Given the description of an element on the screen output the (x, y) to click on. 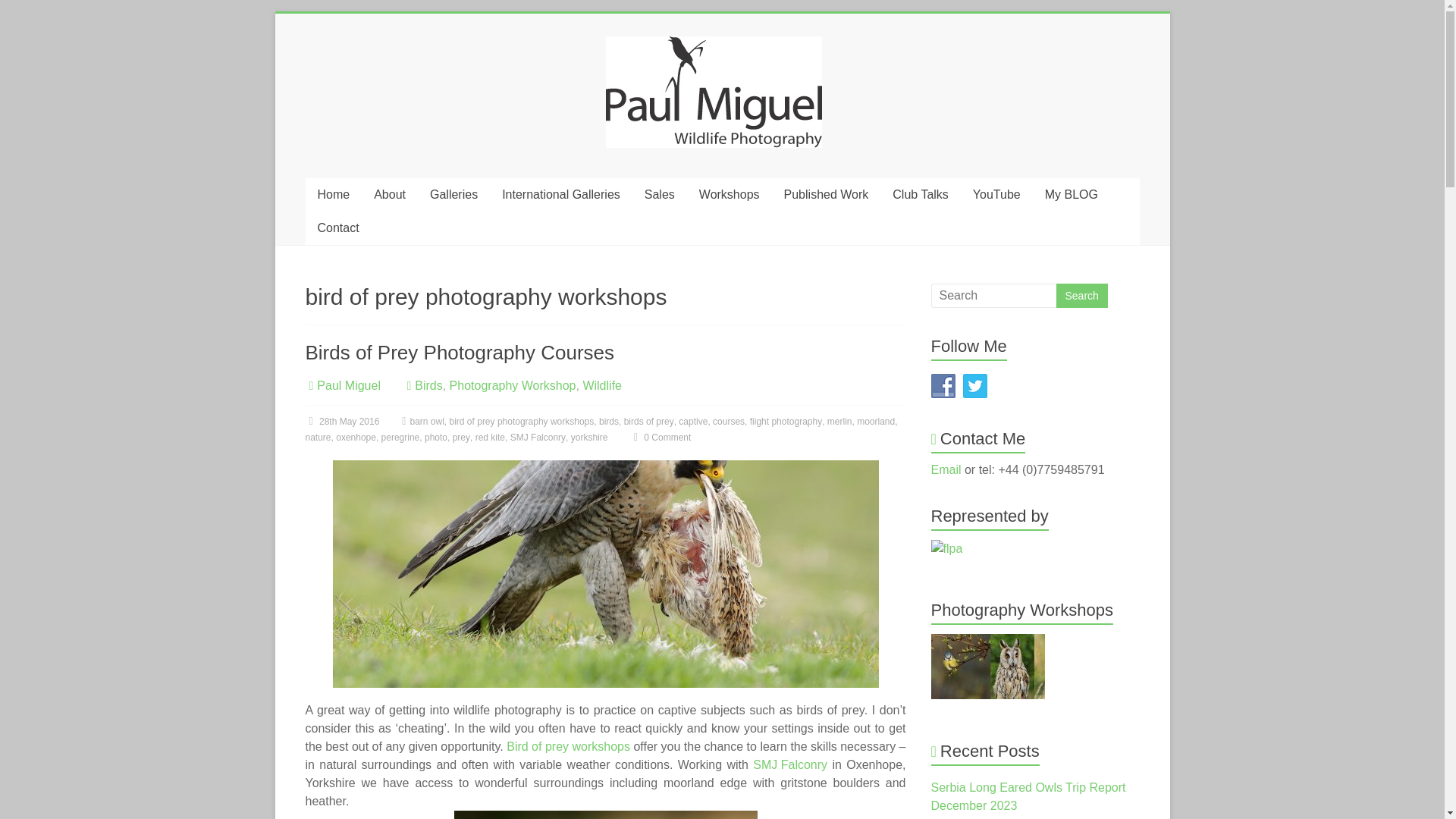
Follow Us on Twitter (974, 385)
Search (1080, 295)
moorland (876, 421)
Paul Miguel (348, 385)
Birds (428, 385)
Birds of Prey Photography Courses (459, 352)
birds of prey (649, 421)
Birds of Prey Photography Courses (459, 352)
Paul Miguel (348, 385)
merlin (839, 421)
peregrine (400, 437)
Birds of Prey Photography Courses (604, 573)
Photography Workshop (512, 385)
photo (435, 437)
Galleries (453, 194)
